Given the description of an element on the screen output the (x, y) to click on. 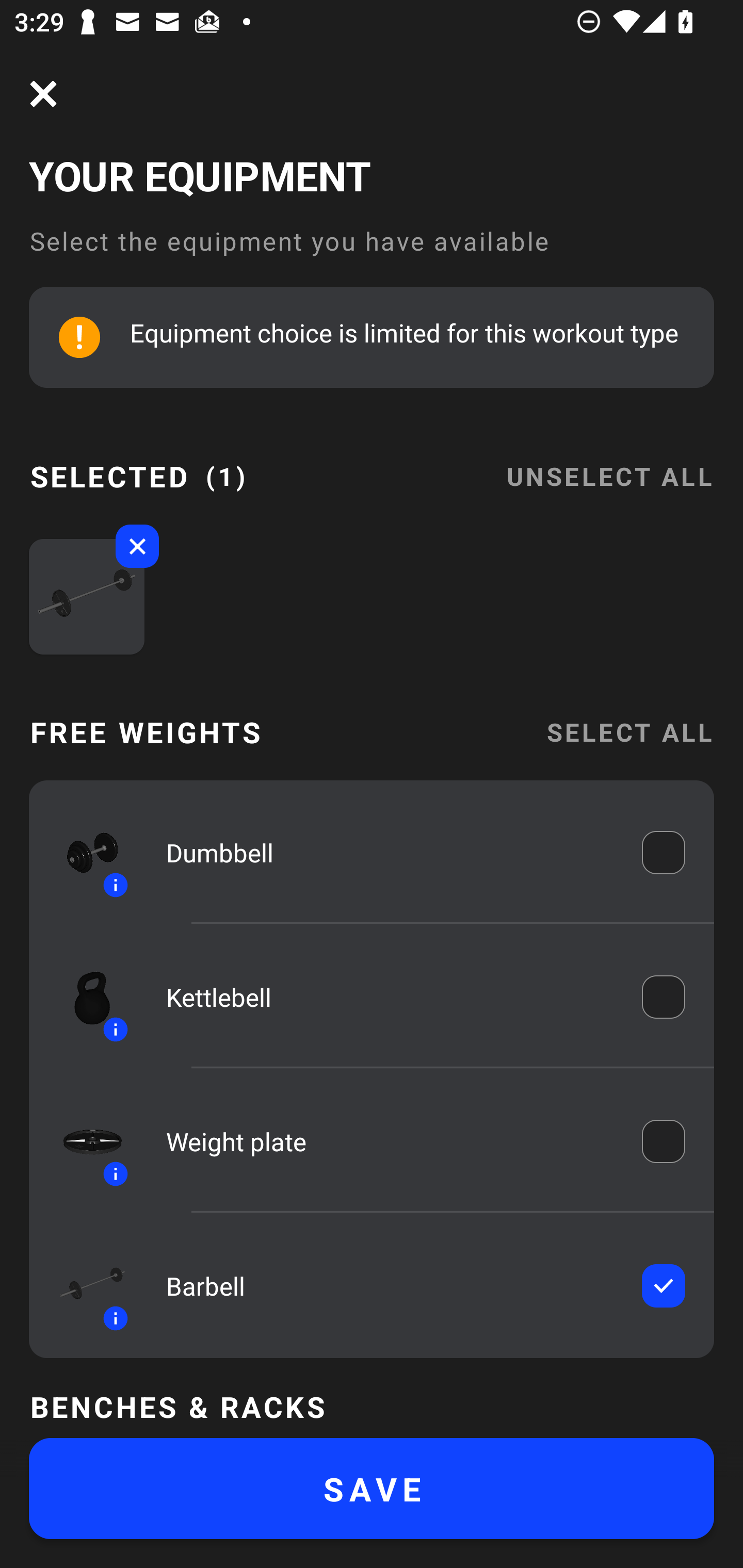
Navigation icon (43, 93)
UNSELECT ALL (609, 463)
SELECT ALL (629, 731)
Equipment icon Information icon (82, 852)
Dumbbell (389, 852)
Equipment icon Information icon (82, 996)
Kettlebell (389, 996)
Equipment icon Information icon (82, 1140)
Weight plate (389, 1141)
Equipment icon Information icon (82, 1286)
Barbell (389, 1285)
SAVE (371, 1488)
